Given the description of an element on the screen output the (x, y) to click on. 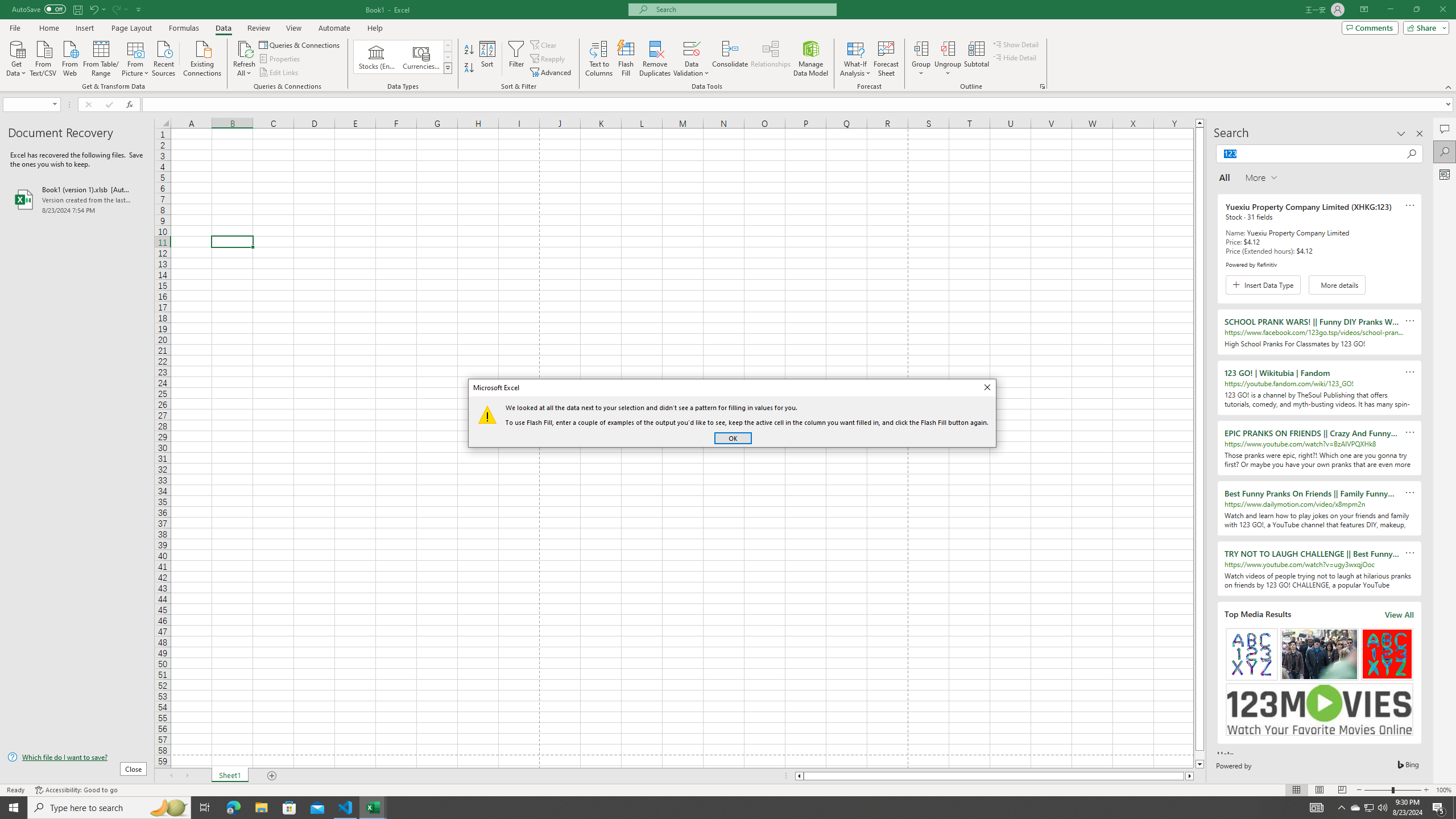
Forecast Sheet (885, 58)
Stocks (English) (375, 56)
Sort... (487, 58)
Sort A to Z (469, 49)
